Given the description of an element on the screen output the (x, y) to click on. 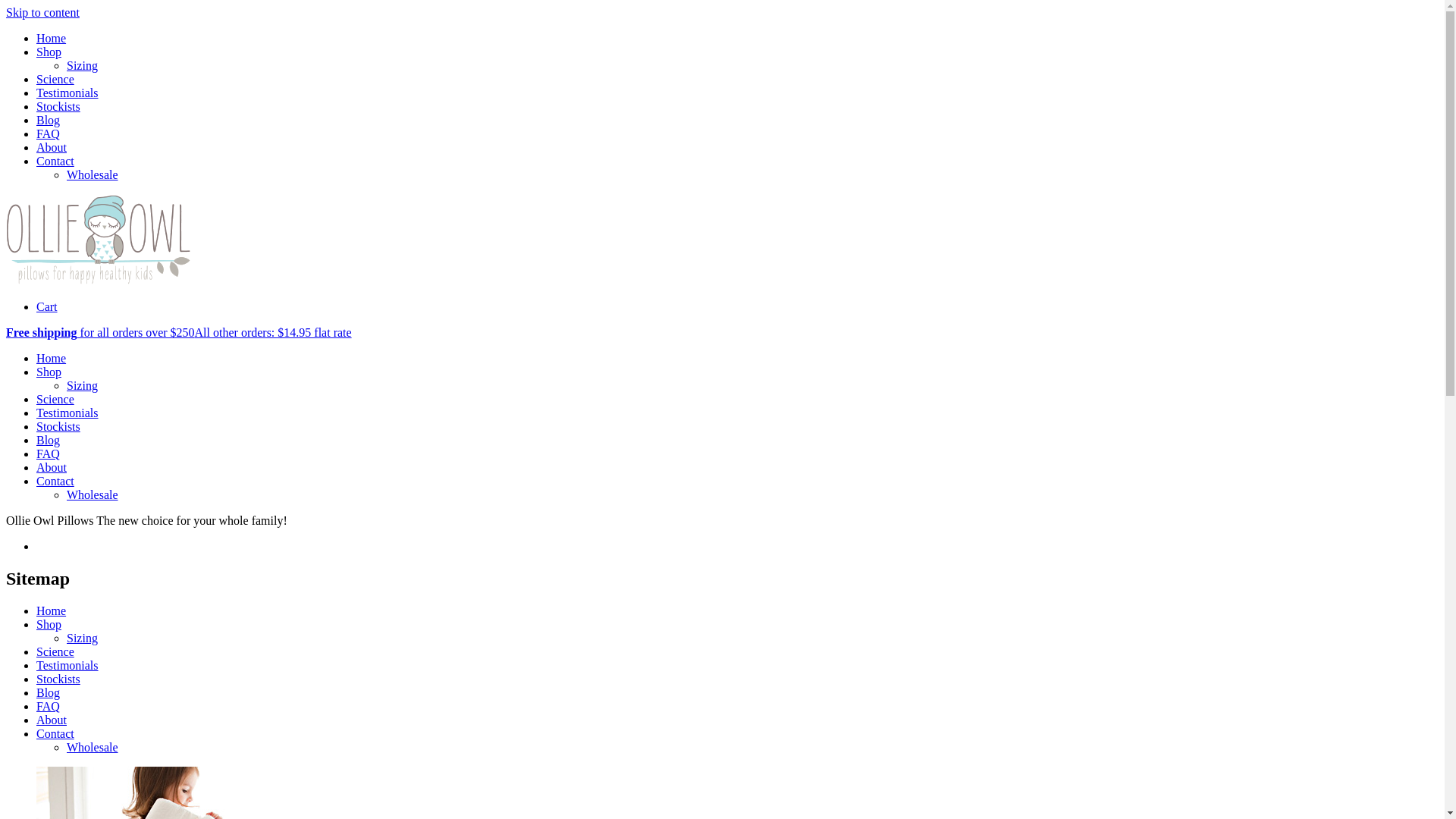
Home Element type: text (50, 37)
Cart Element type: text (46, 306)
Wholesale Element type: text (92, 746)
Blog Element type: text (47, 692)
Sizing Element type: text (81, 385)
About Element type: text (51, 147)
Blog Element type: text (47, 119)
Shop Element type: text (48, 624)
FAQ Element type: text (47, 453)
Stockists Element type: text (58, 678)
Testimonials Element type: text (67, 664)
Science Element type: text (55, 78)
Testimonials Element type: text (67, 92)
Stockists Element type: text (58, 106)
Shop Element type: text (48, 51)
Contact Element type: text (55, 480)
FAQ Element type: text (47, 133)
Contact Element type: text (55, 160)
Wholesale Element type: text (92, 494)
Science Element type: text (55, 651)
Shop Element type: text (48, 371)
Sizing Element type: text (81, 65)
Sizing Element type: text (81, 637)
About Element type: text (51, 719)
About Element type: text (51, 467)
Skip to content Element type: text (42, 12)
Science Element type: text (55, 398)
Testimonials Element type: text (67, 412)
Contact Element type: text (55, 733)
Home Element type: text (50, 357)
Stockists Element type: text (58, 426)
FAQ Element type: text (47, 705)
Home Element type: text (50, 610)
Blog Element type: text (47, 439)
Wholesale Element type: text (92, 174)
